Given the description of an element on the screen output the (x, y) to click on. 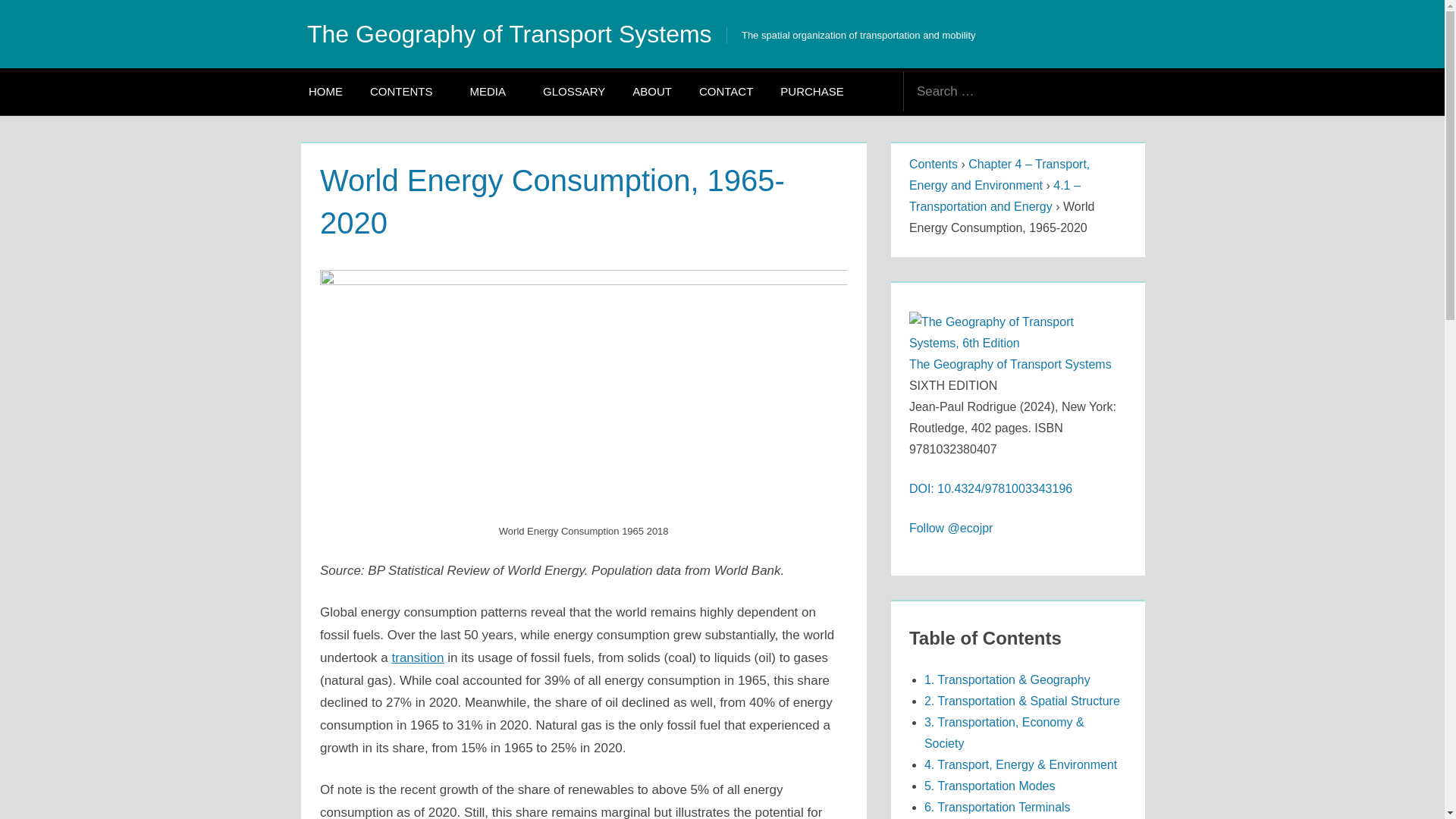
HOME (325, 91)
GLOSSARY (573, 91)
CONTENTS (406, 91)
Search for: (997, 91)
PURCHASE (812, 91)
ABOUT (651, 91)
Contents (933, 164)
The Geography of Transport Systems (1010, 364)
Contents (933, 164)
MEDIA (493, 91)
Search (1118, 91)
CONTACT (726, 91)
transition (417, 657)
World Energy Consumption, 1965-2020 (583, 280)
The Geography of Transport Systems (509, 33)
